Given the description of an element on the screen output the (x, y) to click on. 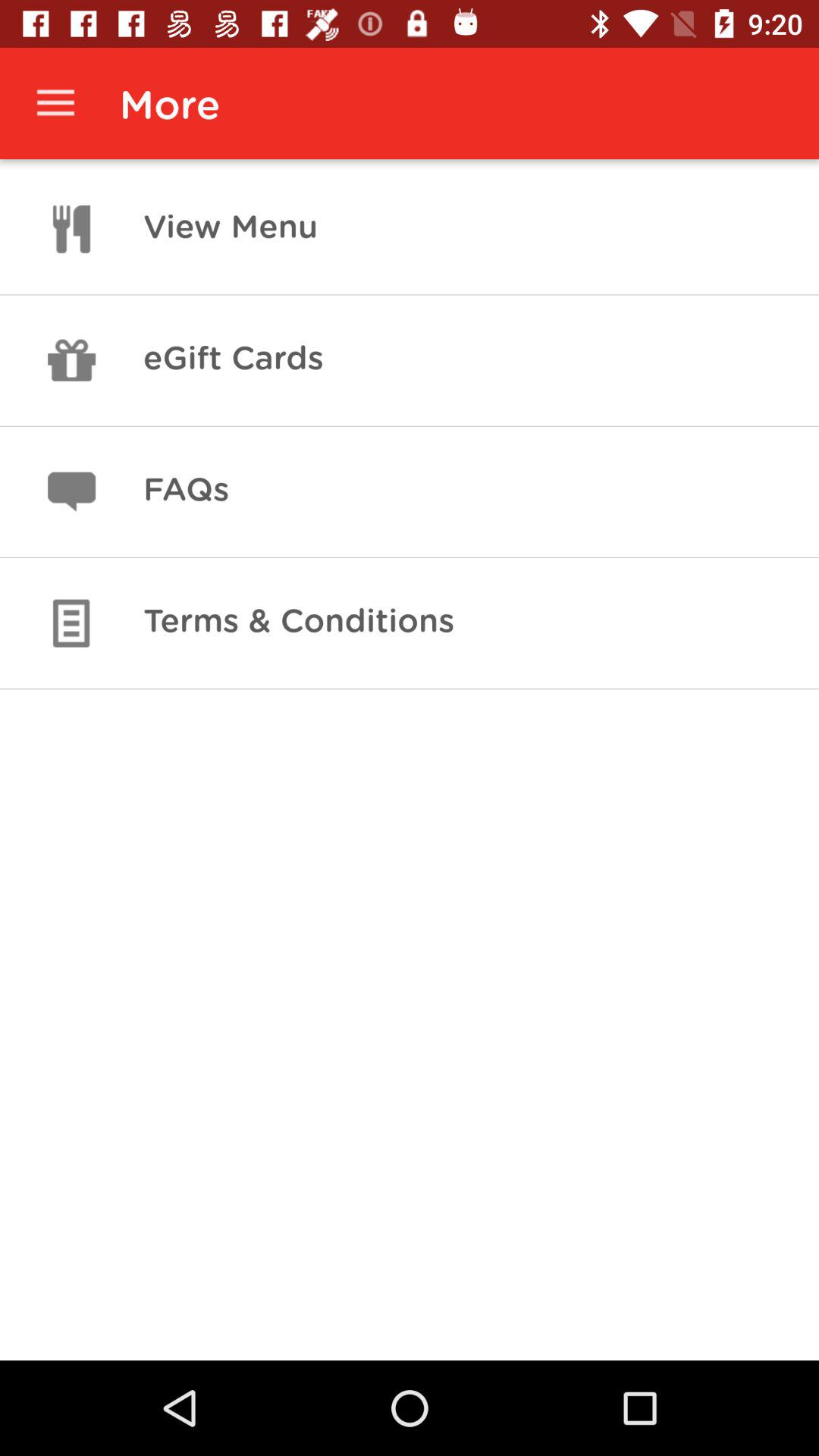
jump until view menu icon (230, 228)
